Given the description of an element on the screen output the (x, y) to click on. 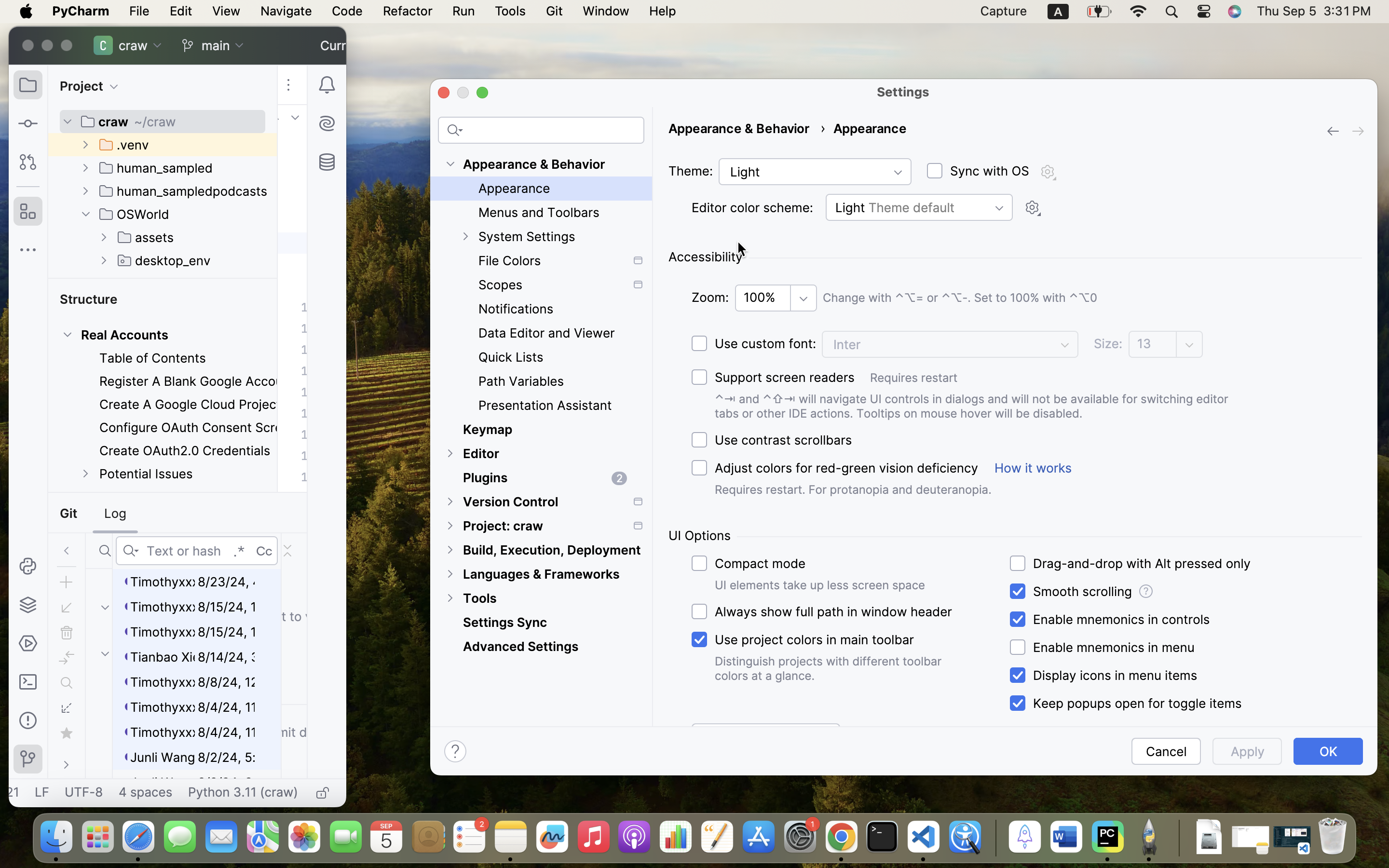
LafReference(name=Light, themeId=ExperimentalLight) Element type: AXPopUpButton (814, 171)
Zoom: Element type: AXStaticText (710, 297)
Requires restart Element type: AXTextField (1115, 377)
13 Element type: AXTextField (1153, 343)
Requires restart. For protanopia and deuteranopia. Element type: AXTextField (852, 489)
